Given the description of an element on the screen output the (x, y) to click on. 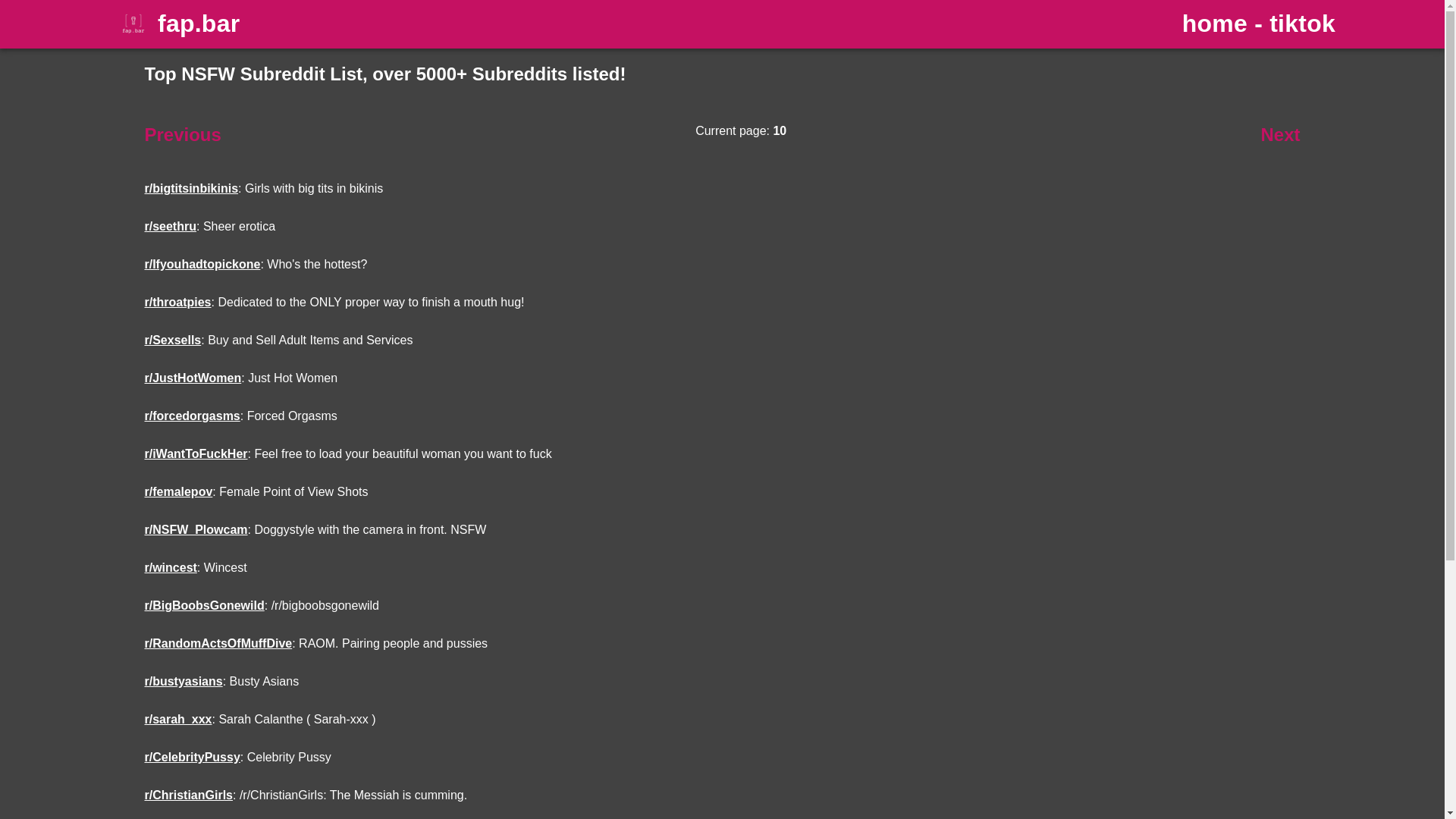
r/BigBoobsGonewild Element type: text (203, 605)
r/ChristianGirls Element type: text (188, 794)
Previous Element type: text (182, 134)
r/Ifyouhadtopickone Element type: text (202, 263)
r/sarah_xxx Element type: text (177, 718)
r/NSFW_Plowcam Element type: text (195, 529)
r/wincest Element type: text (170, 567)
r/bustyasians Element type: text (183, 680)
r/RandomActsOfMuffDive Element type: text (217, 643)
Next Element type: text (1279, 134)
tiktok Element type: text (1302, 23)
r/Sexsells Element type: text (172, 339)
r/femalepov Element type: text (178, 491)
r/CelebrityPussy Element type: text (191, 756)
fap.bar Element type: text (198, 23)
r/throatpies Element type: text (177, 301)
r/JustHotWomen Element type: text (192, 377)
r/bigtitsinbikinis Element type: text (191, 188)
r/seethru Element type: text (169, 225)
r/iWantToFuckHer Element type: text (195, 453)
r/forcedorgasms Element type: text (191, 415)
home Element type: text (1214, 23)
